Given the description of an element on the screen output the (x, y) to click on. 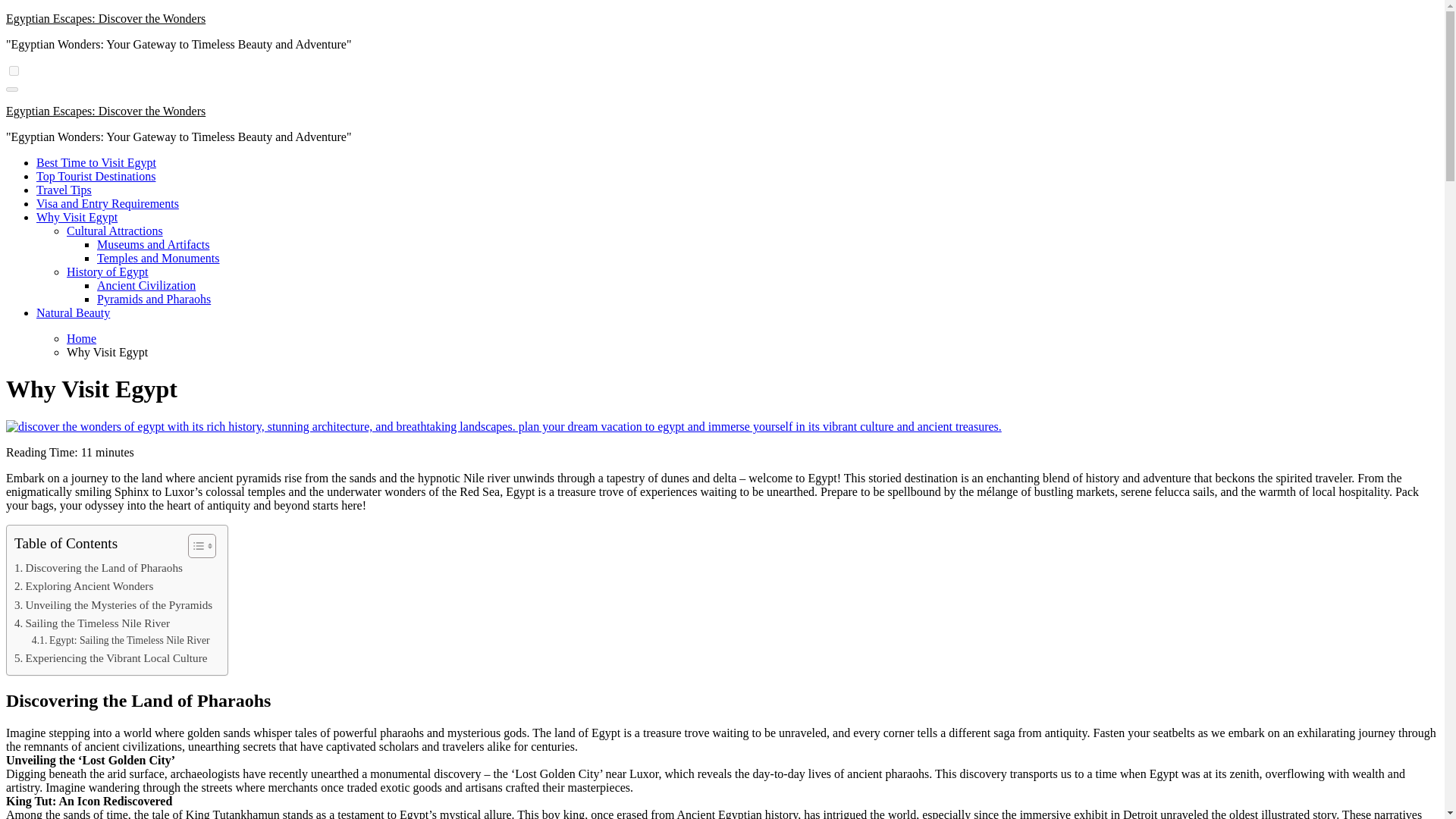
Why Visit Egypt (76, 216)
Exploring Ancient Wonders (83, 586)
Discovering the Land of Pharaohs (98, 567)
Why Visit Egypt (76, 216)
Travel Tips (63, 189)
Natural Beauty (73, 312)
Exploring Ancient Wonders (83, 586)
Egyptian Escapes: Discover the Wonders (105, 18)
Unveiling the Mysteries of the Pyramids (113, 605)
Best Time to Visit Egypt (95, 162)
